Given the description of an element on the screen output the (x, y) to click on. 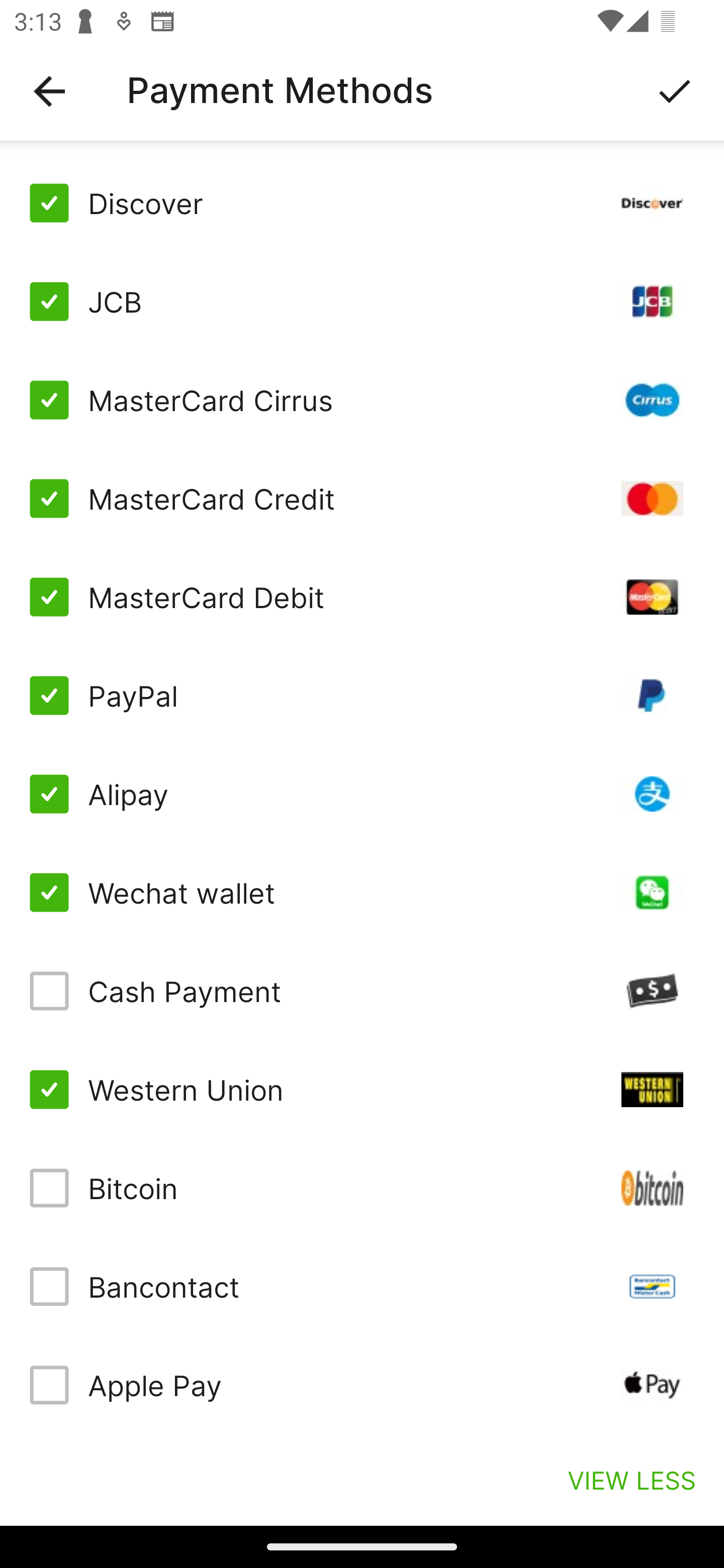
Discover (362, 202)
JCB (362, 301)
MasterCard Cirrus (362, 400)
MasterCard Credit (362, 498)
MasterCard Debit (362, 596)
PayPal (362, 695)
Alipay (362, 793)
Wechat wallet (362, 892)
Cash Payment (362, 990)
Western Union (362, 1088)
Bitcoin (362, 1187)
Bancontact (362, 1286)
Apple Pay (362, 1384)
VIEW LESS (631, 1479)
